Given the description of an element on the screen output the (x, y) to click on. 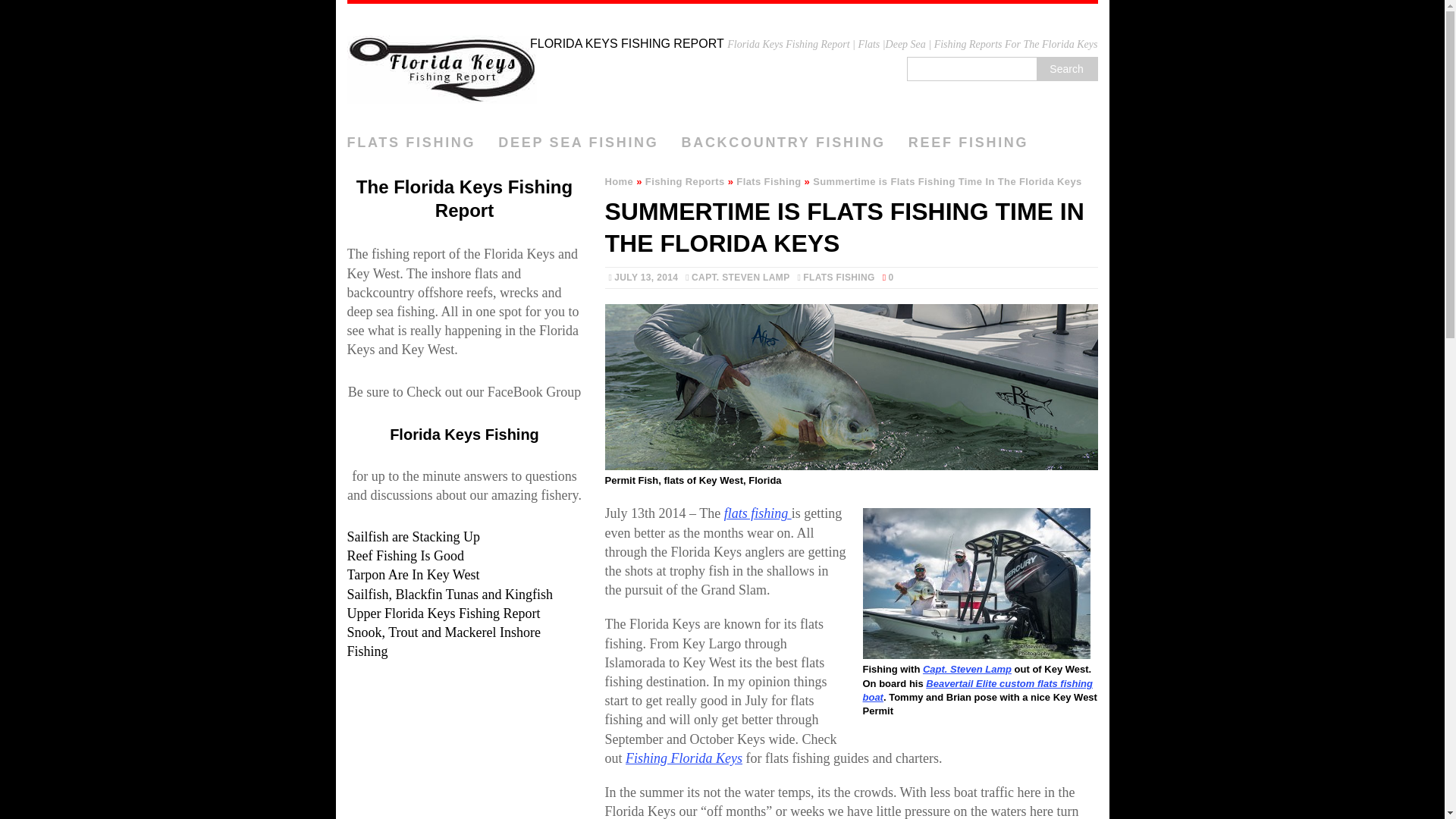
Search (1065, 68)
Florida Keys Fishing Report (722, 65)
BACKCOUNTRY FISHING (783, 142)
DEEP SEA FISHING (577, 142)
Fishing Reports (685, 181)
Florida Keys Backcountry Fishing (783, 142)
Sailfish are Stacking Up (413, 536)
Capt. Steven Lamp (967, 668)
Florida Keys Fishing (464, 434)
Snook, Trout and Mackerel Inshore Fishing (443, 641)
Key West Flats Fishing (967, 668)
Posts by Capt. Steven Lamp (740, 276)
Flats Fishing (768, 181)
REEF FISHING (967, 142)
